Given the description of an element on the screen output the (x, y) to click on. 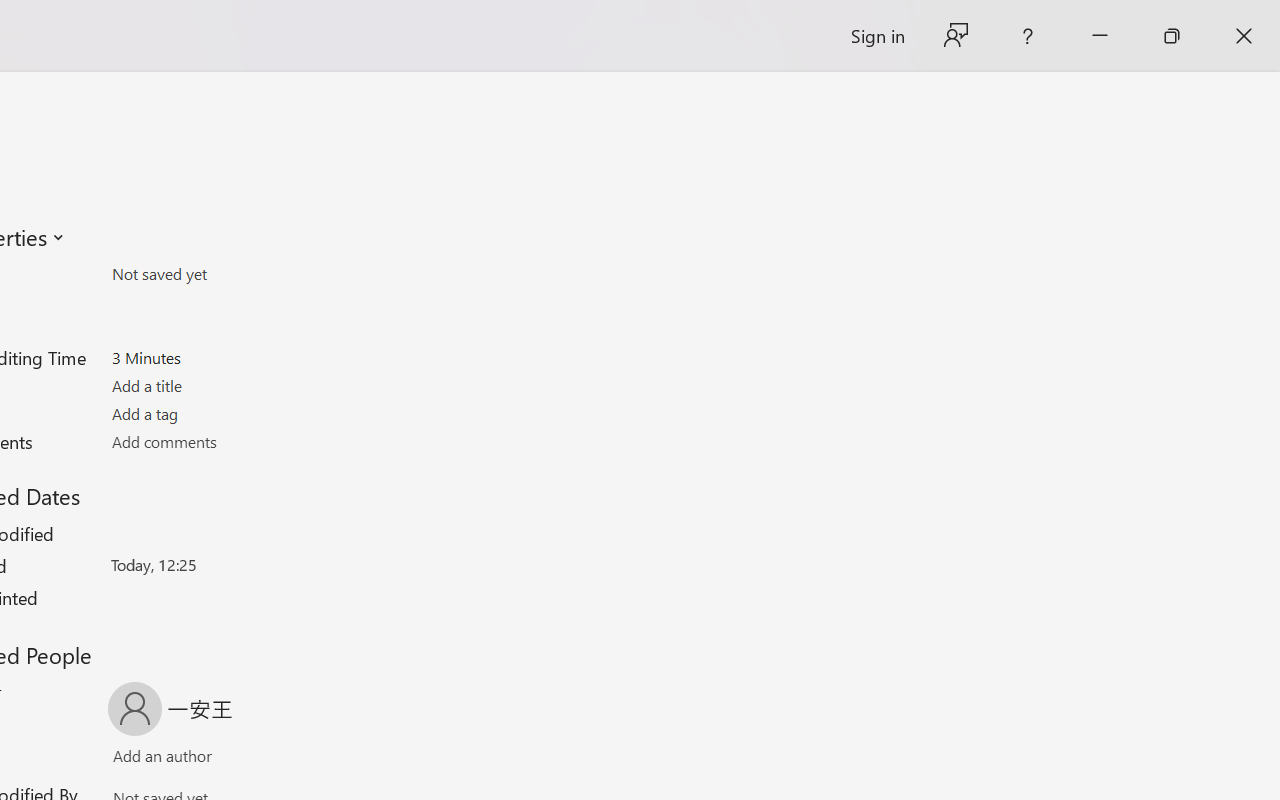
Title (228, 386)
Pages (228, 301)
Tags (228, 413)
Add an author (142, 759)
Total Editing Time (228, 357)
Size (228, 274)
Words (228, 330)
Verify Names (197, 759)
